Given the description of an element on the screen output the (x, y) to click on. 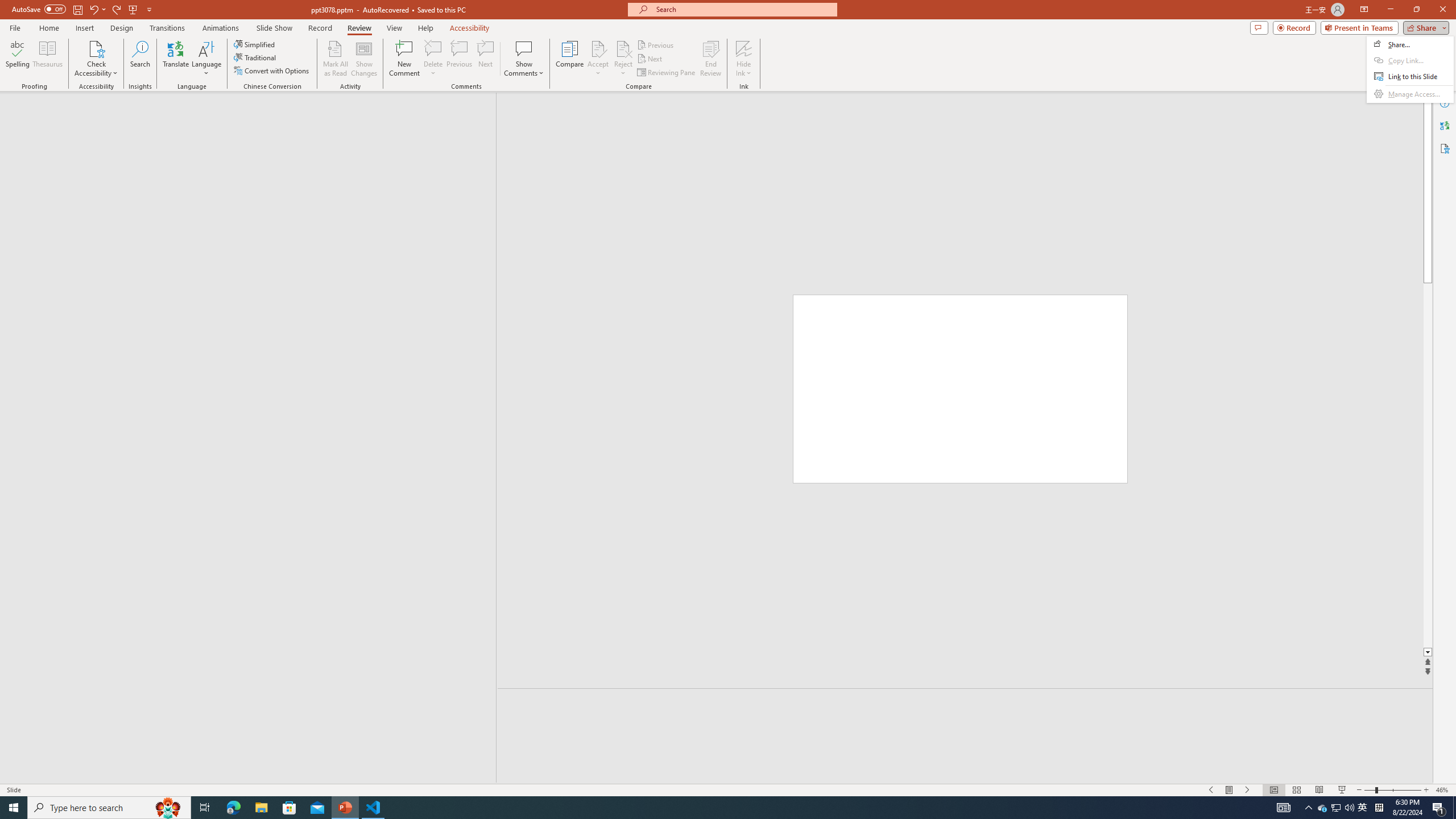
Translate (175, 58)
Traditional (255, 56)
Delete (432, 58)
Action Center, 1 new notification (1439, 807)
Check Accessibility (95, 58)
Compare (569, 58)
Simplified (254, 44)
Task View (1362, 807)
Spelling... (204, 807)
Slide Notes (17, 58)
